Given the description of an element on the screen output the (x, y) to click on. 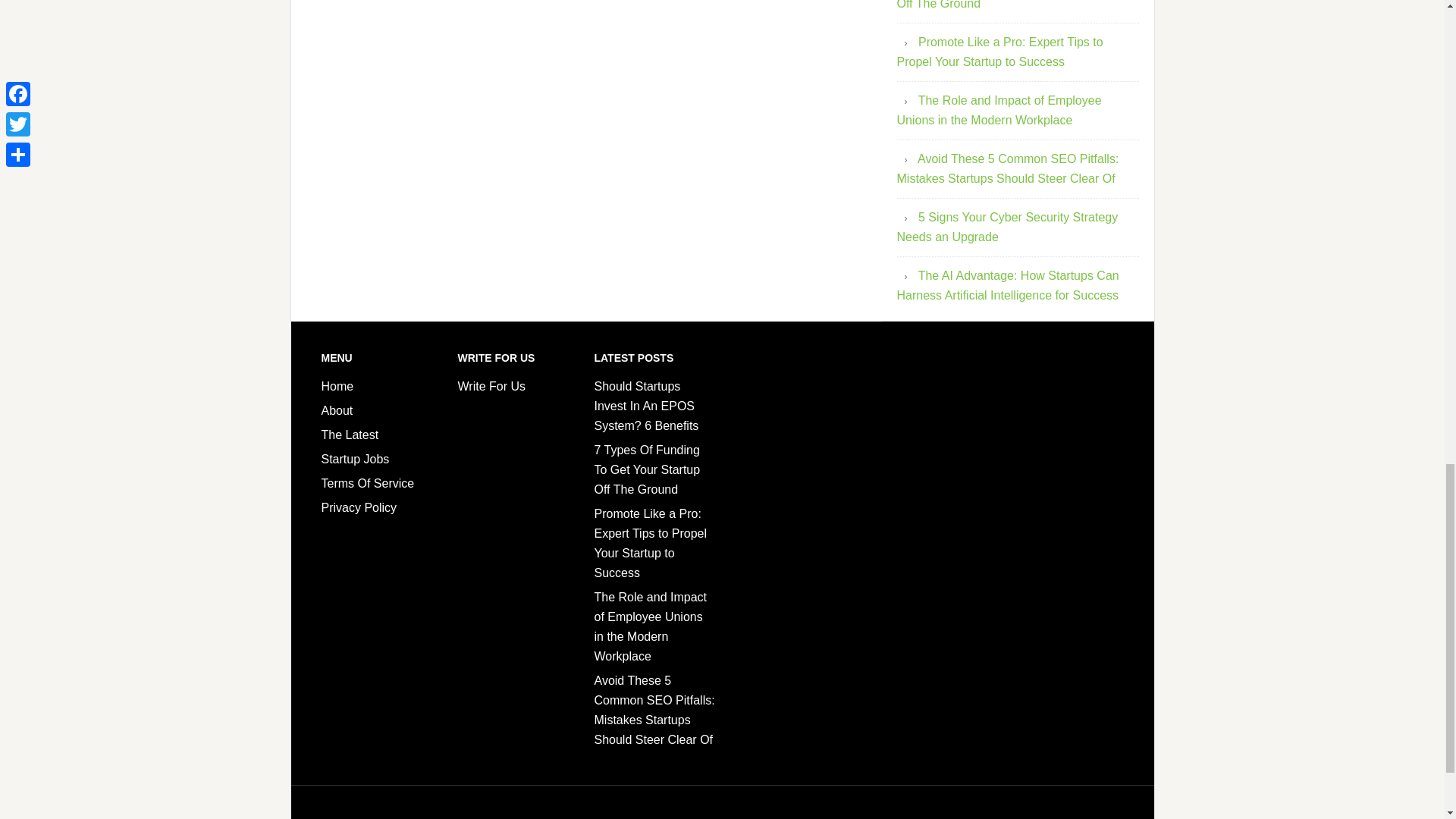
About (337, 410)
5 Signs Your Cyber Security Strategy Needs an Upgrade (1007, 226)
7 Types Of Funding To Get Your Startup Off The Ground (1014, 4)
Home (337, 386)
Privacy Policy (359, 507)
The Latest (349, 434)
Write For Us (491, 386)
